Given the description of an element on the screen output the (x, y) to click on. 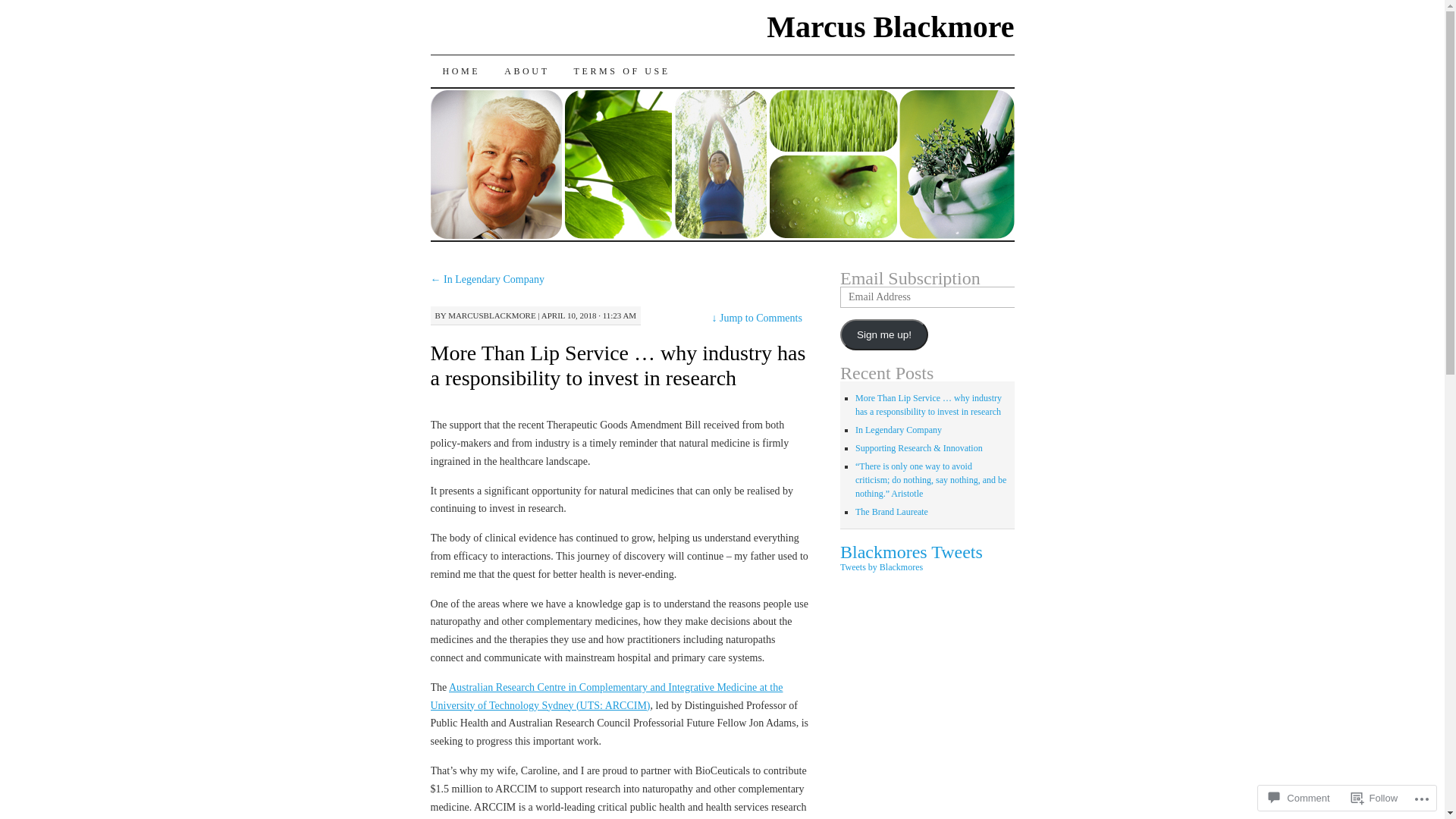
Sign me up! Element type: text (884, 334)
TERMS OF USE Element type: text (621, 71)
MARCUSBLACKMORE Element type: text (492, 315)
HOME Element type: text (461, 71)
Marcus Blackmore Element type: text (889, 26)
Blackmores Tweets Element type: text (911, 551)
The Brand Laureate Element type: text (891, 511)
ABOUT Element type: text (526, 71)
Comment Element type: text (1298, 797)
Tweets by Blackmores Element type: text (881, 566)
Supporting Research & Innovation Element type: text (918, 447)
In Legendary Company Element type: text (898, 429)
Follow Element type: text (1374, 797)
